Given the description of an element on the screen output the (x, y) to click on. 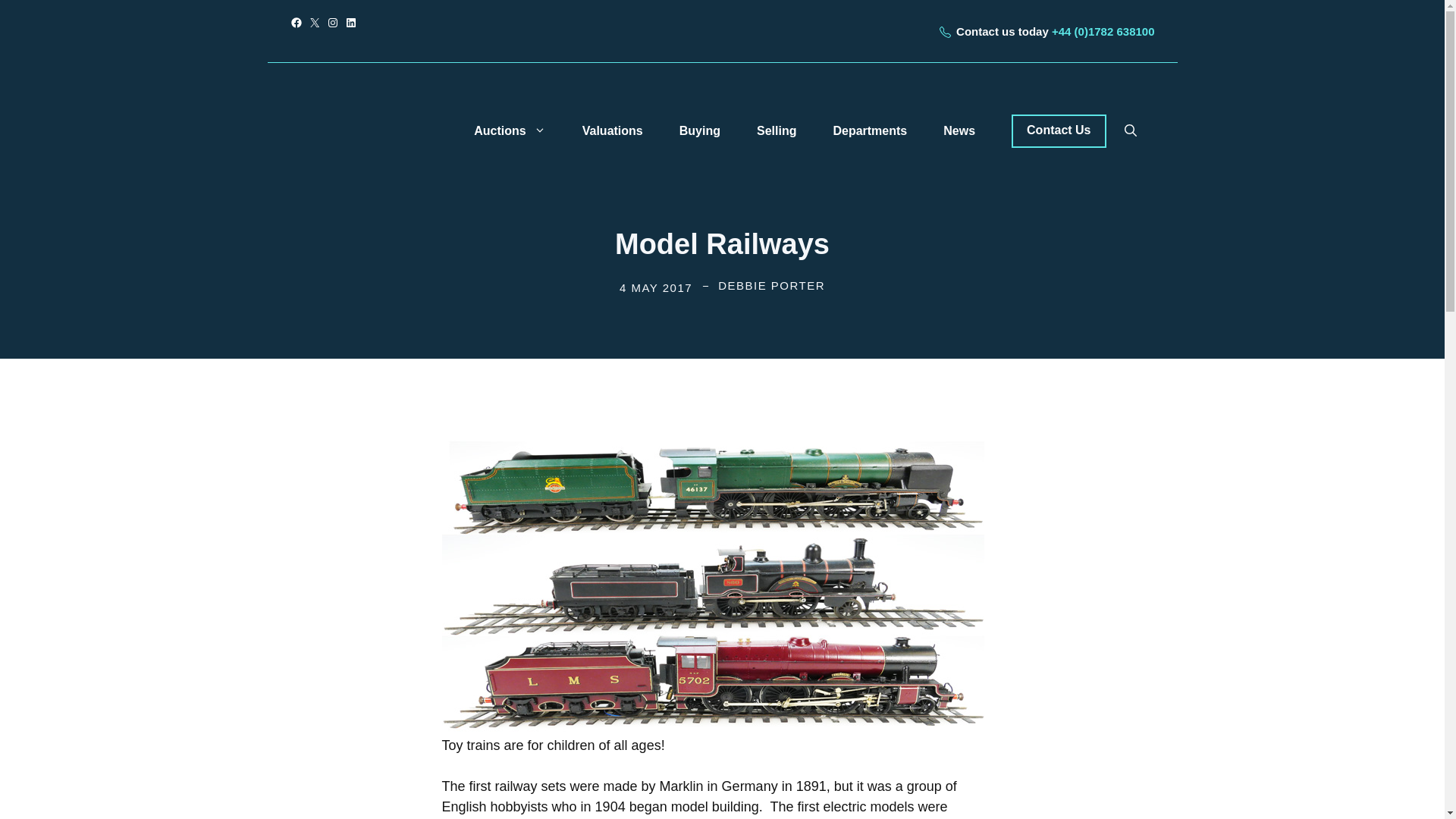
Contact Us (1058, 131)
Auctions (509, 130)
Buying (699, 130)
Departments (868, 130)
News (958, 130)
Facebook (295, 22)
LinkedIn (349, 22)
Valuations (612, 130)
Selling (775, 130)
Instagram (331, 22)
